Given the description of an element on the screen output the (x, y) to click on. 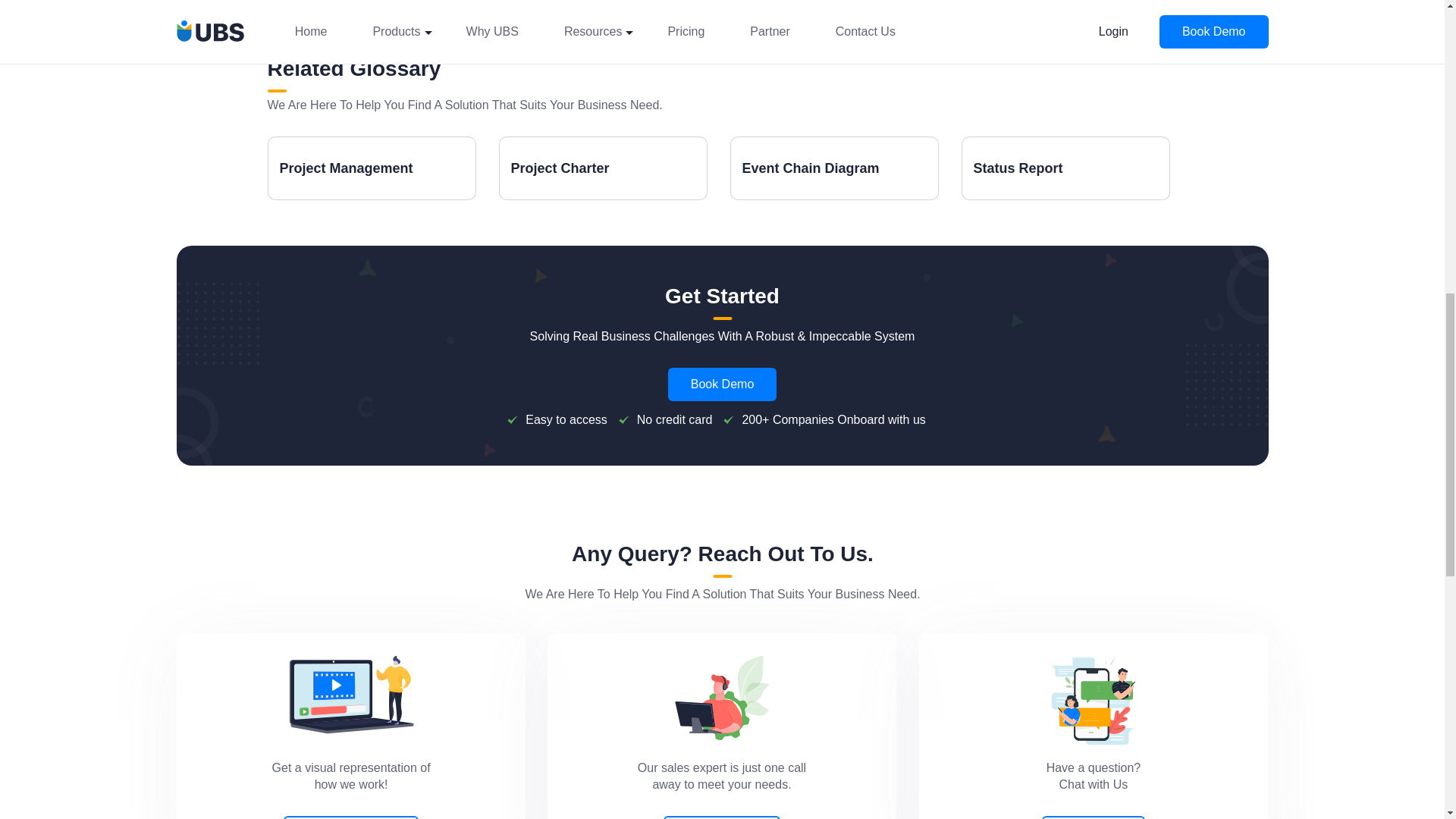
Start Chat (1093, 700)
Get in Touch (722, 698)
Watch a Demo (350, 694)
